Given the description of an element on the screen output the (x, y) to click on. 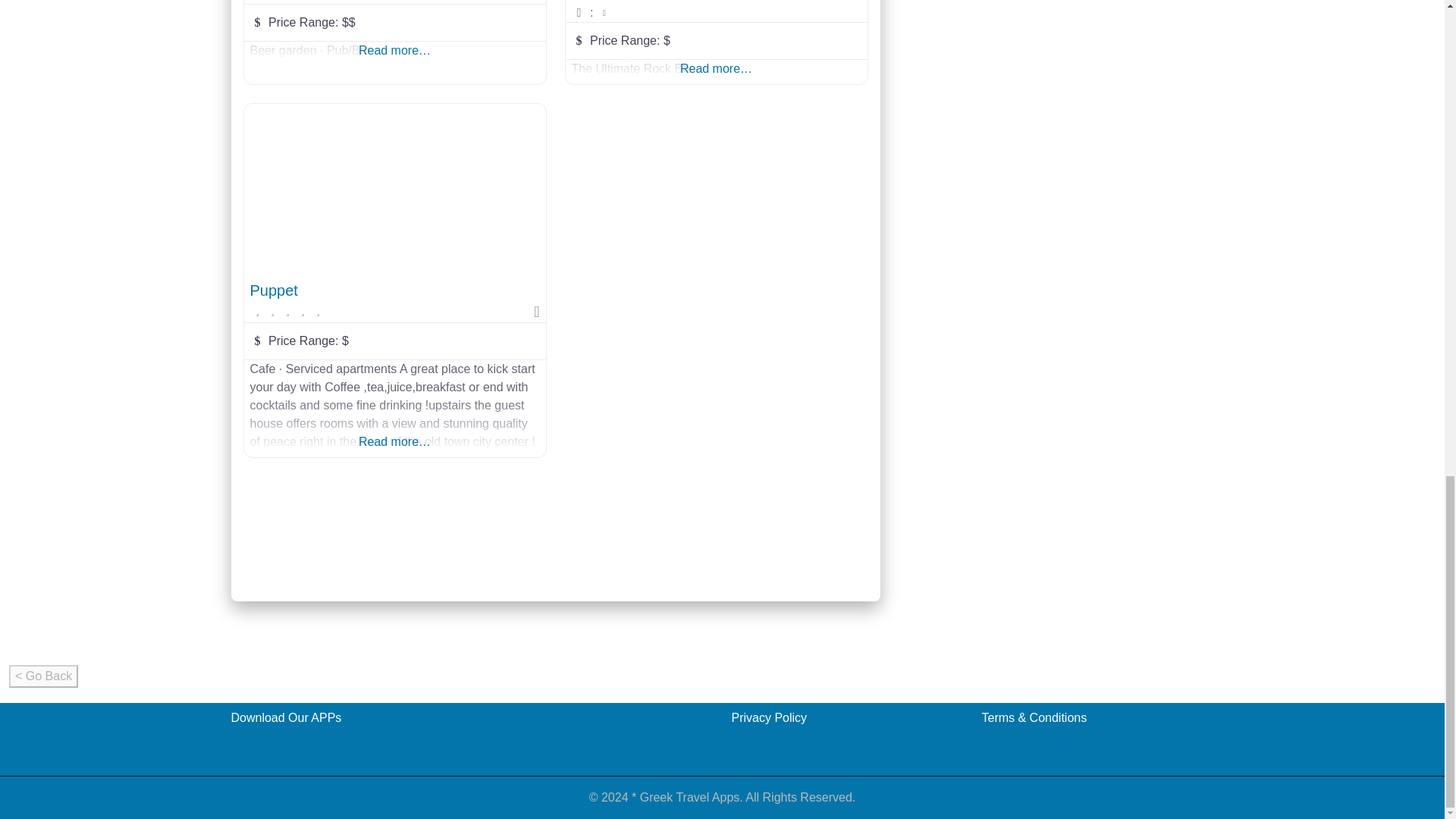
: (716, 13)
Puppet (274, 289)
